Given the description of an element on the screen output the (x, y) to click on. 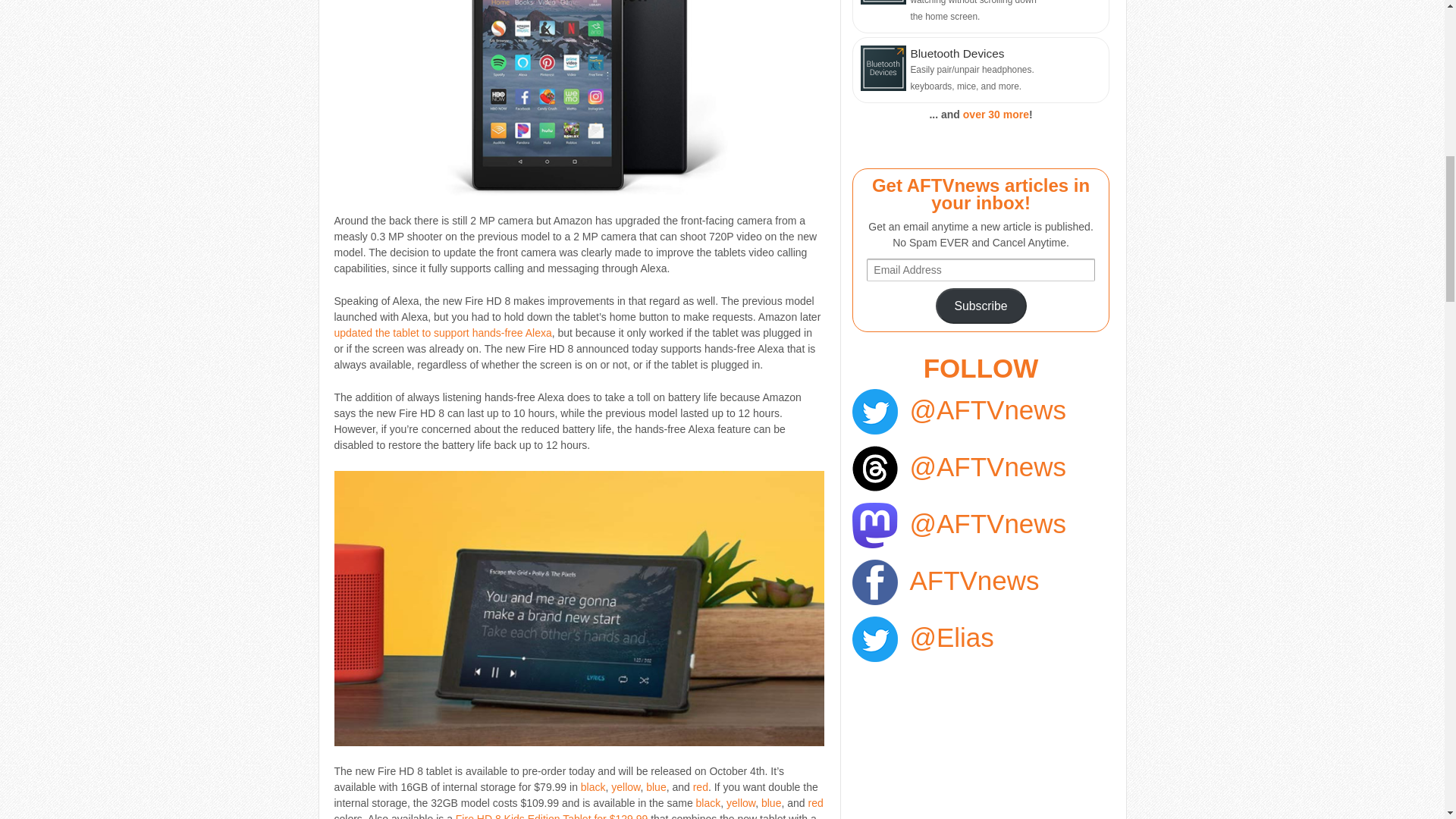
black (592, 787)
updated the tablet to support hands-free Alexa (442, 332)
red (700, 787)
red (815, 802)
yellow (625, 787)
black (707, 802)
yellow (740, 802)
blue (655, 787)
blue (770, 802)
